Given the description of an element on the screen output the (x, y) to click on. 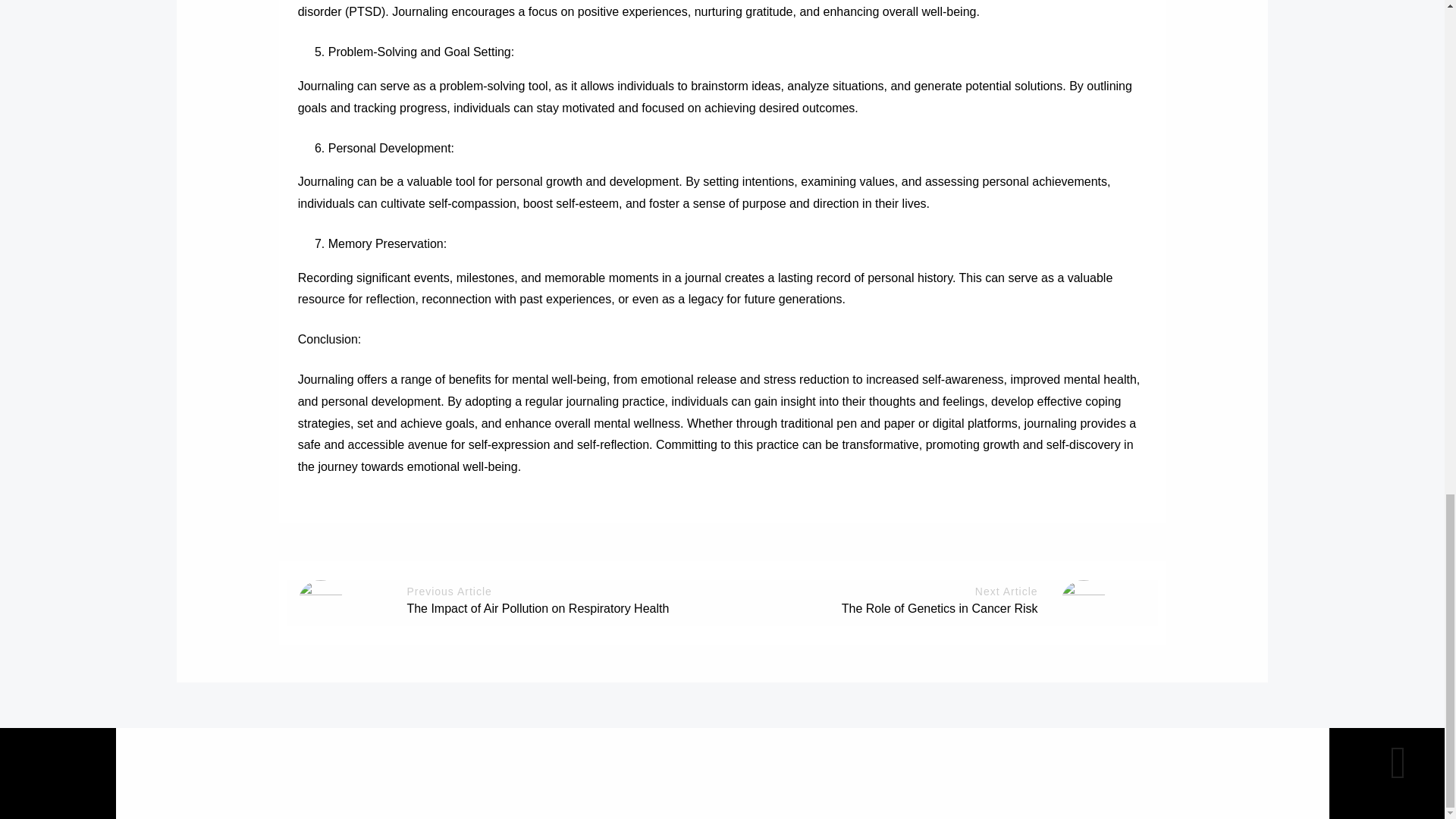
The Role of Genetics in Cancer Risk (939, 608)
The Impact of Air Pollution on Respiratory Health (537, 608)
